Given the description of an element on the screen output the (x, y) to click on. 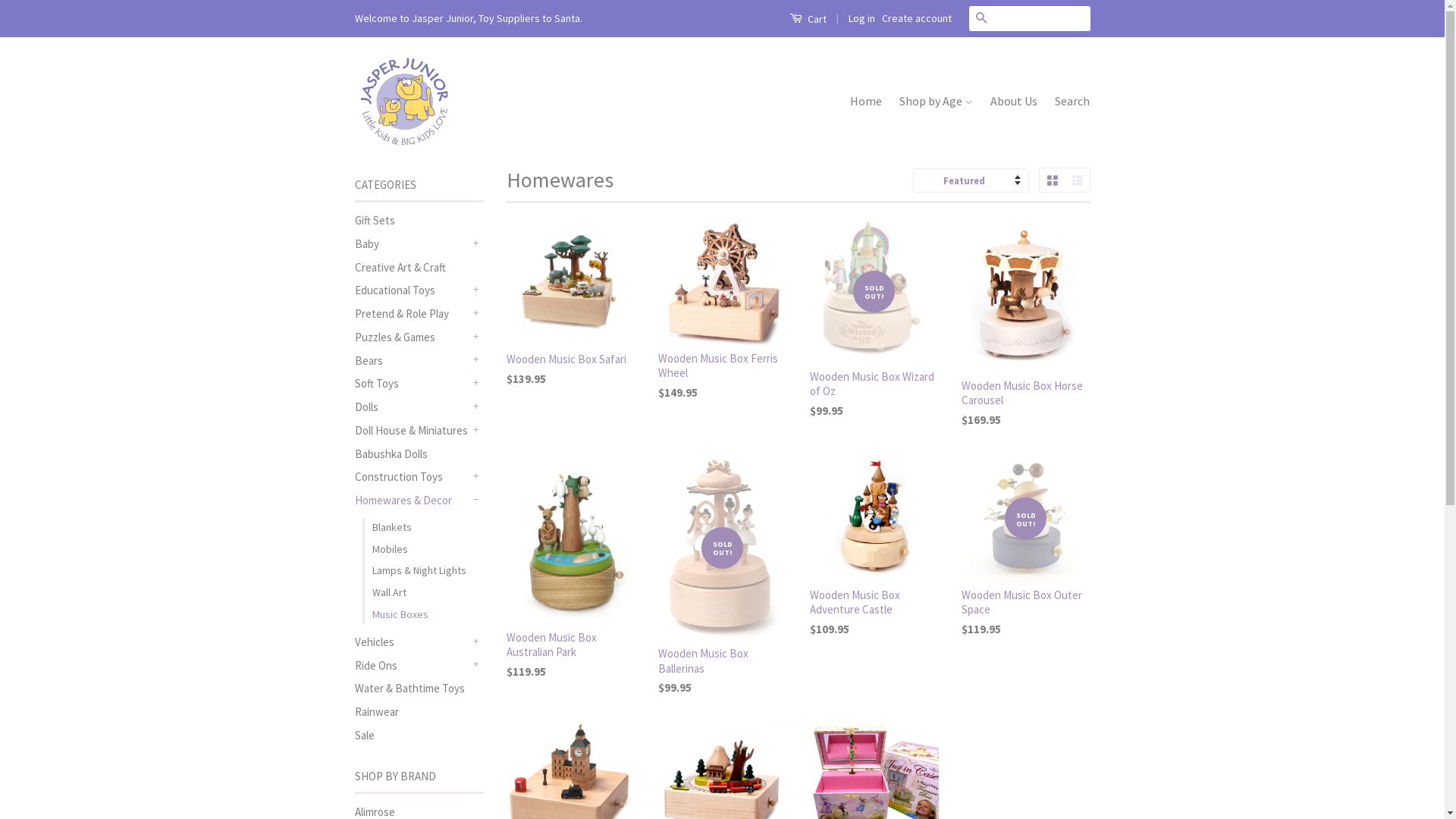
Soft Toys Element type: text (411, 383)
Homewares & Decor Element type: text (411, 499)
+ Element type: text (475, 336)
+ Element type: text (475, 476)
+ Element type: text (475, 290)
Puzzles & Games Element type: text (411, 336)
Water & Bathtime Toys Element type: text (409, 687)
Wooden Music Box Safari
$139.95 Element type: text (570, 315)
SOLD OUT!
Wooden Music Box Ballerinas
$99.95 Element type: text (722, 587)
Grid View Element type: text (1050, 180)
Ride Ons Element type: text (411, 665)
Rainwear Element type: text (376, 711)
+ Element type: text (475, 313)
Pretend & Role Play Element type: text (411, 313)
Blankets Element type: text (427, 526)
Mobiles Element type: text (427, 548)
List View Element type: text (1076, 180)
Create account Element type: text (915, 18)
+ Element type: text (475, 406)
Home Element type: text (869, 100)
Baby Element type: text (411, 243)
Vehicles Element type: text (411, 641)
Gift Sets Element type: text (374, 220)
Cart Element type: text (806, 17)
Music Boxes Element type: text (427, 614)
+ Element type: text (475, 243)
About Us Element type: text (1013, 100)
Bears Element type: text (411, 360)
+ Element type: text (475, 641)
Log in Element type: text (860, 18)
Shop by Age Element type: text (935, 100)
Creative Art & Craft Element type: text (399, 267)
Babushka Dolls Element type: text (390, 453)
+ Element type: text (475, 429)
+ Element type: text (475, 664)
Lamps & Night Lights Element type: text (427, 570)
SOLD OUT!
Wooden Music Box Wizard of Oz
$99.95 Element type: text (873, 331)
Wooden Music Box Adventure Castle
$109.95 Element type: text (873, 558)
Sale Element type: text (364, 735)
- Element type: text (475, 500)
Search Element type: text (981, 18)
Educational Toys Element type: text (411, 289)
+ Element type: text (475, 359)
+ Element type: text (475, 383)
Wooden Music Box Australian Park
$119.95 Element type: text (570, 580)
Dolls Element type: text (411, 406)
Construction Toys Element type: text (411, 476)
Doll House & Miniatures Element type: text (411, 430)
SOLD OUT!
Wooden Music Box Outer Space
$119.95 Element type: text (1025, 558)
Wall Art Element type: text (427, 592)
Wooden Music Box Horse Carousel
$169.95 Element type: text (1025, 336)
Search Element type: text (1068, 100)
Wooden Music Box Ferris Wheel
$149.95 Element type: text (722, 322)
